Given the description of an element on the screen output the (x, y) to click on. 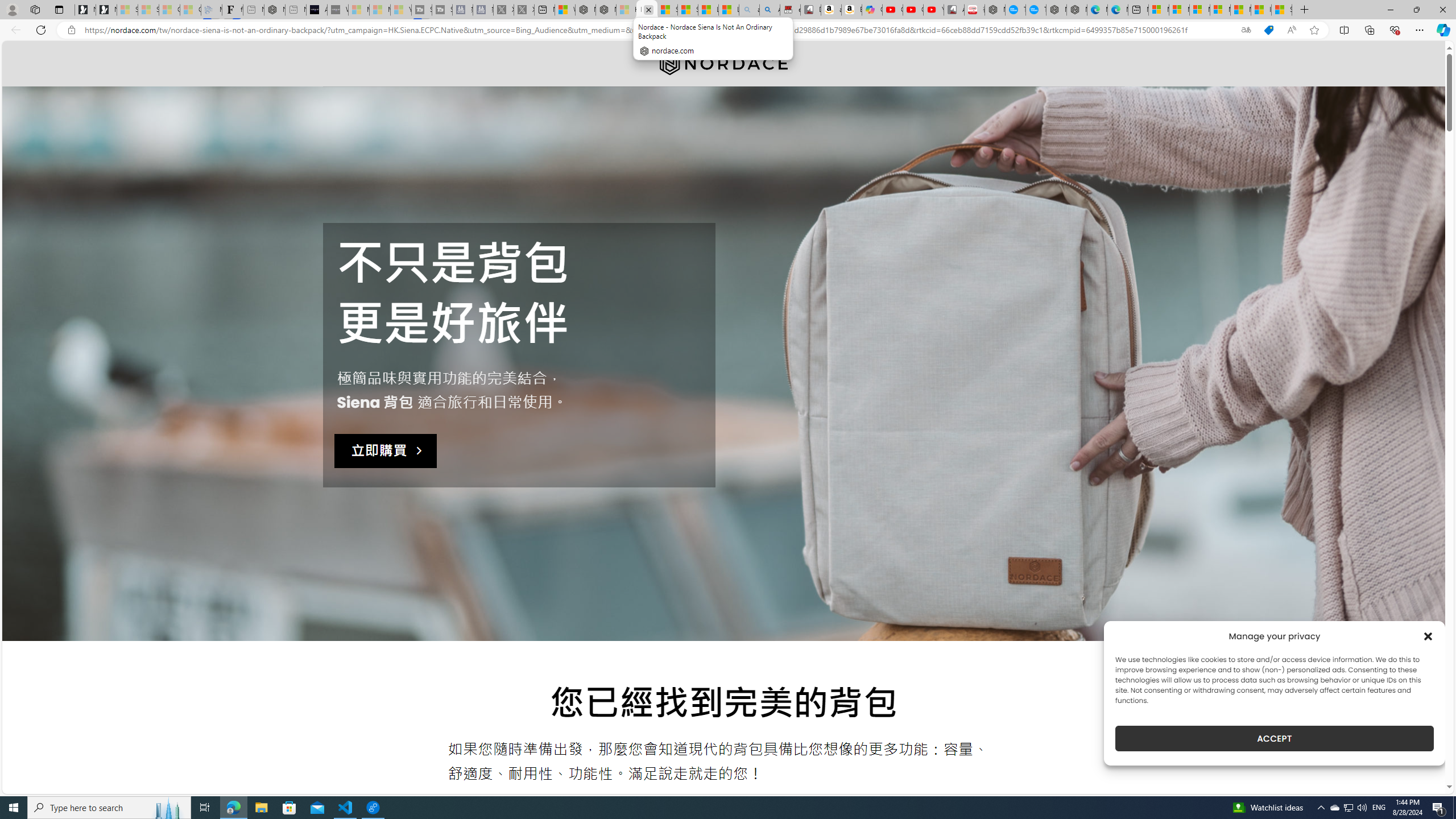
X - Sleeping (523, 9)
Microsoft Start Sports - Sleeping (358, 9)
Newsletter Sign Up (106, 9)
Gloom - YouTube (913, 9)
Amazon Echo Dot PNG - Search Images (769, 9)
